Given the description of an element on the screen output the (x, y) to click on. 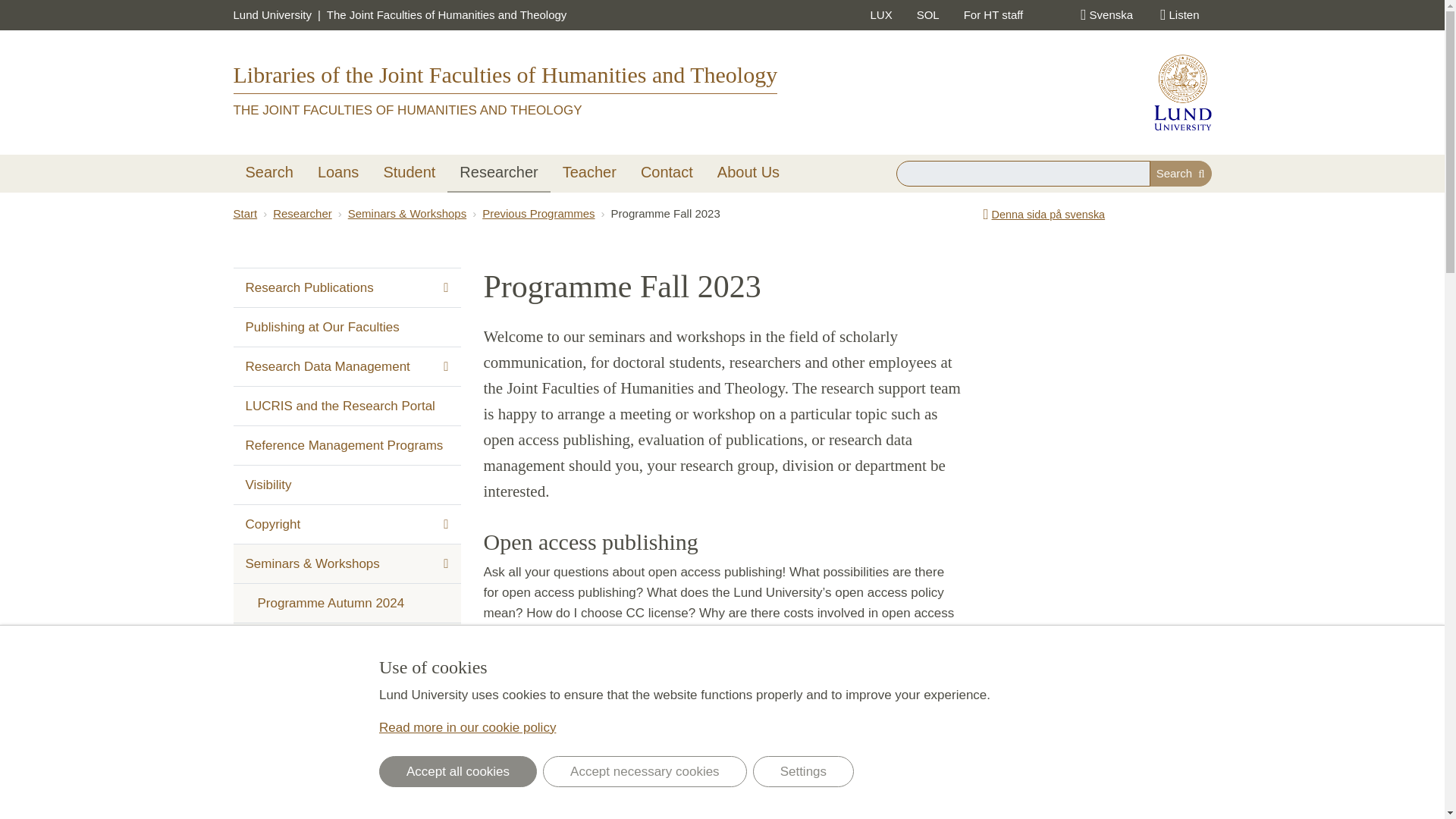
Read more in our cookie policy (467, 727)
Accept all cookies (457, 770)
Settings (802, 770)
Accept necessary cookies (644, 770)
